Given the description of an element on the screen output the (x, y) to click on. 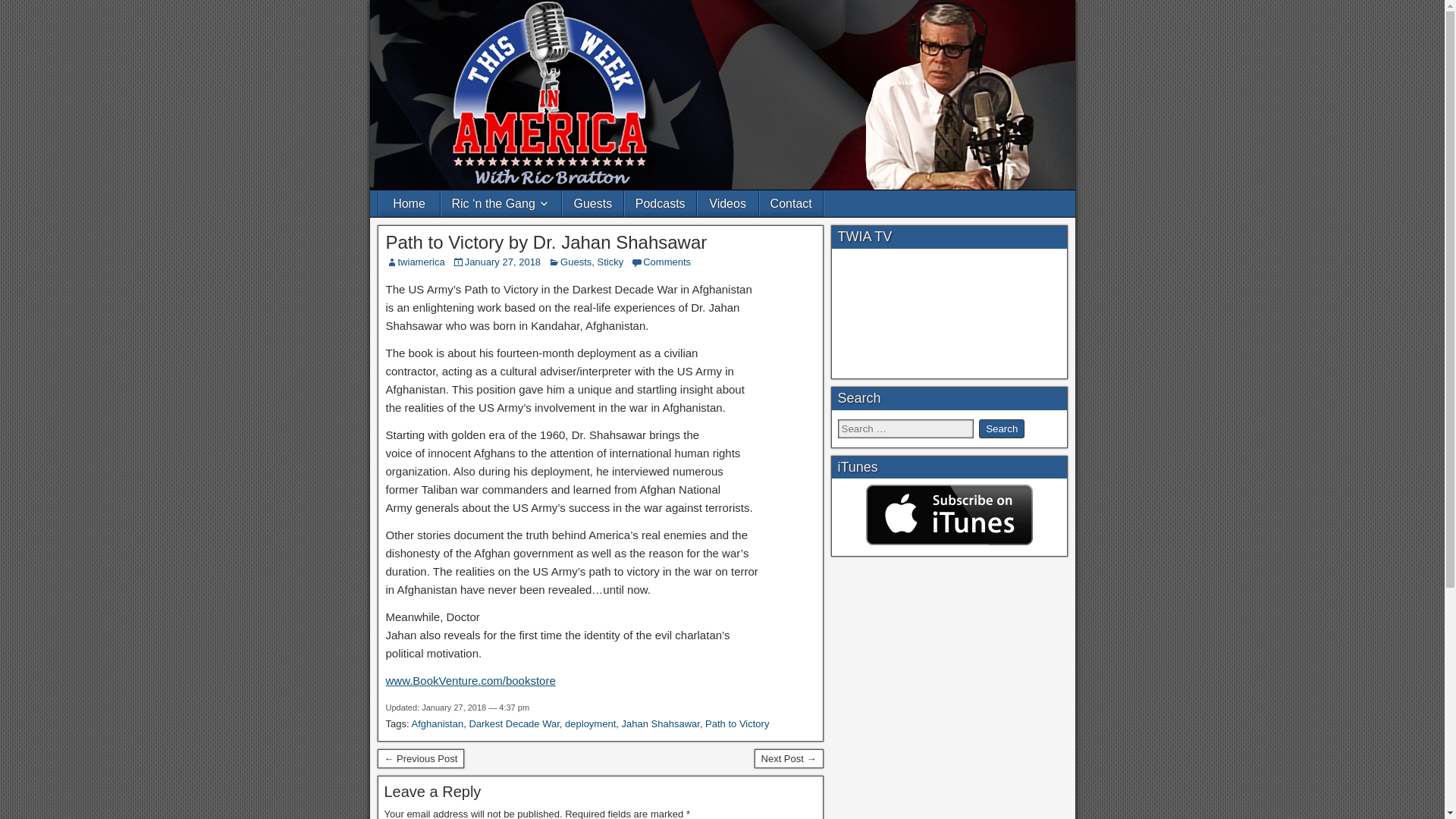
Contact (791, 203)
Guests (592, 203)
Jahan Shahsawar (660, 723)
Search (1001, 428)
Sticky (610, 261)
twiamerica (420, 261)
Darkest Decade War (513, 723)
Moral Fiber: Awakening Corporate Consciousness by Shawn Vij (420, 759)
deployment (589, 723)
Home (408, 203)
